Given the description of an element on the screen output the (x, y) to click on. 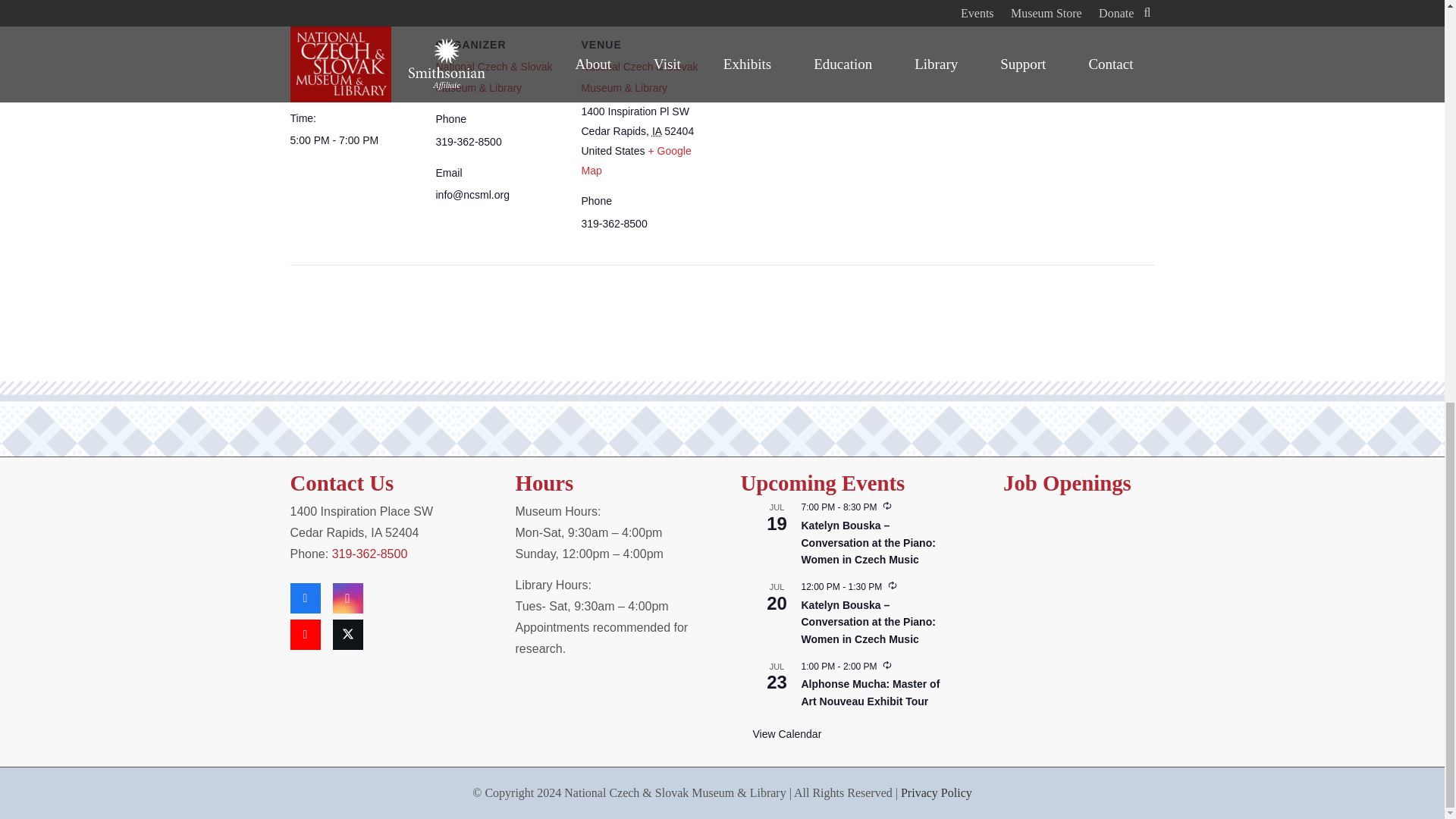
Instagram (346, 598)
Twitter (346, 634)
2018-06-20 (352, 139)
2018-06-20 (322, 87)
Iowa (656, 131)
Click to view a Google Map (635, 160)
Recurring (886, 507)
YouTube (304, 634)
Facebook (304, 598)
